Given the description of an element on the screen output the (x, y) to click on. 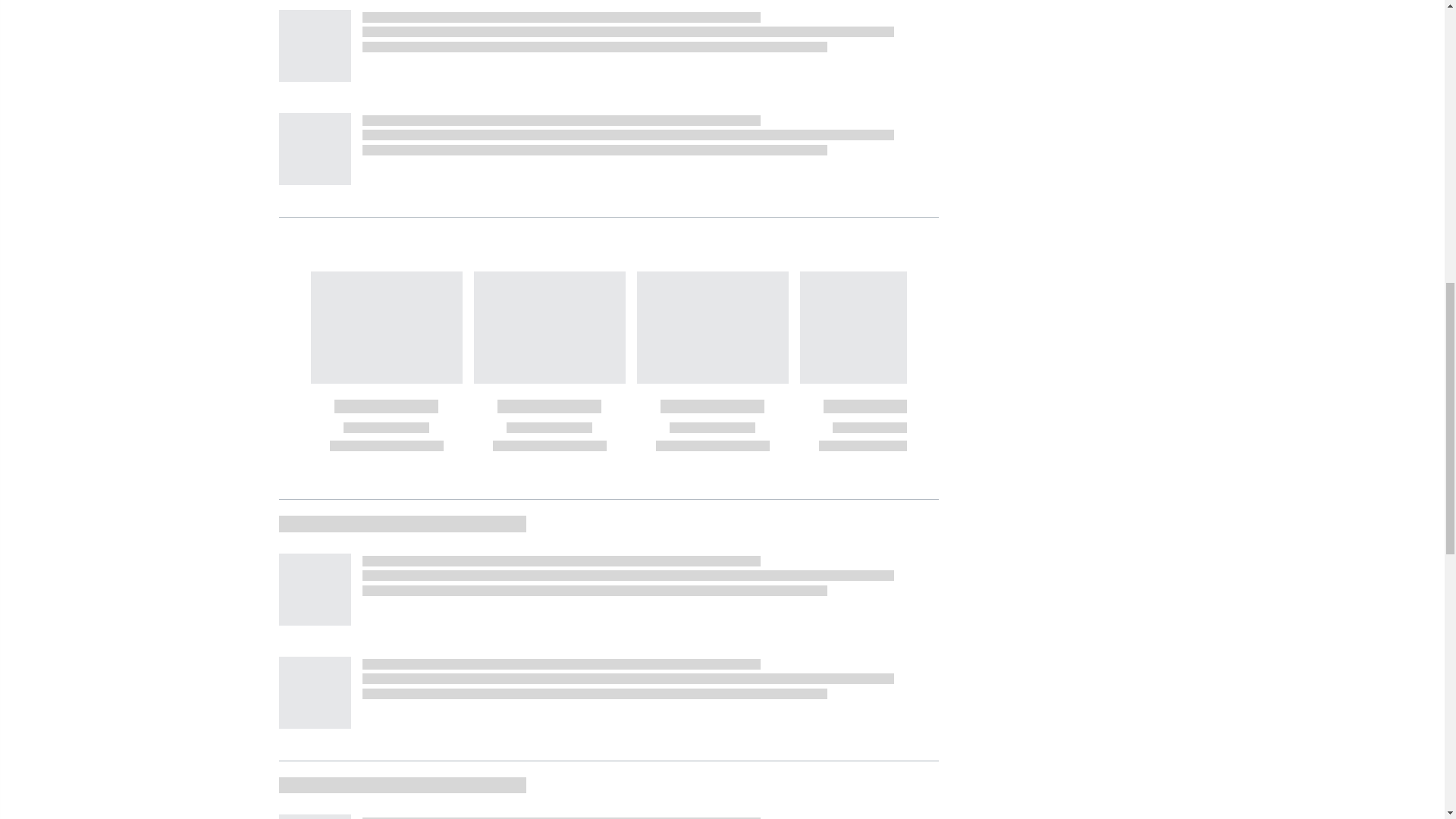
Placeholder (314, 589)
Placeholder (314, 149)
Placeholder (314, 45)
Placeholder (314, 816)
Placeholder (314, 692)
